Given the description of an element on the screen output the (x, y) to click on. 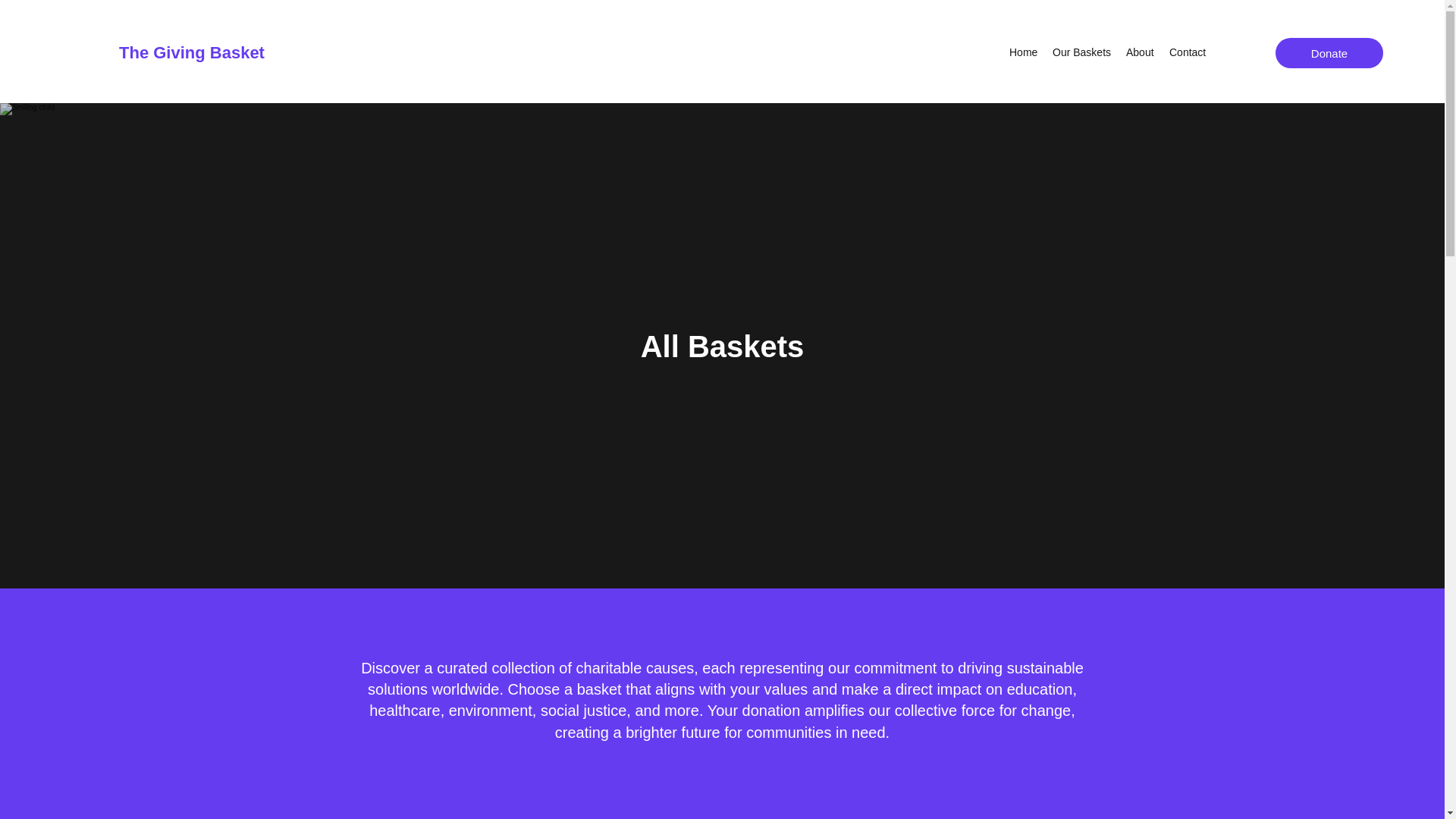
Home (1023, 51)
About (1139, 51)
Contact (1186, 51)
The Giving Basket (191, 52)
Donate (1329, 52)
